Given the description of an element on the screen output the (x, y) to click on. 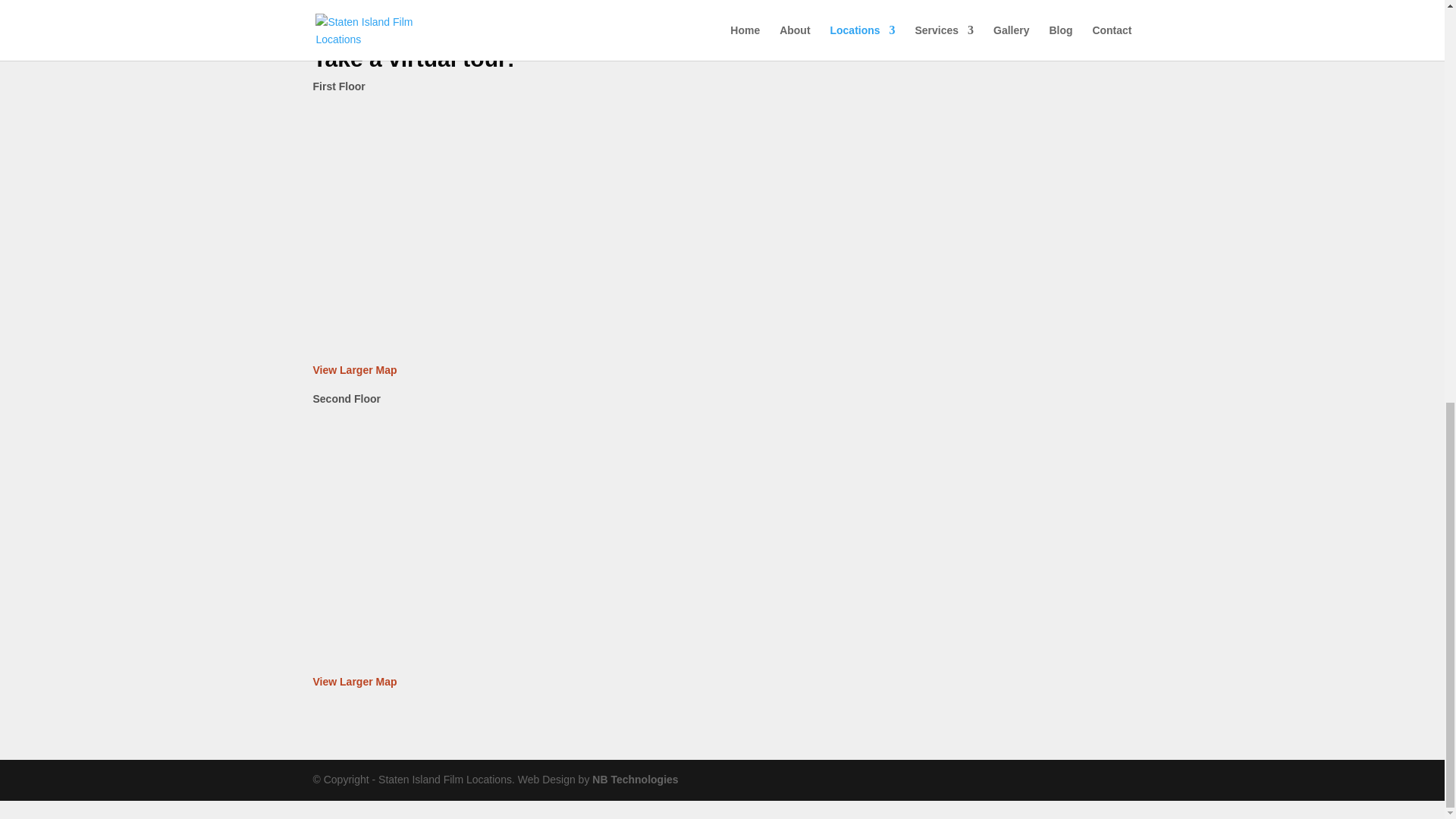
NB Technologies (635, 779)
View Larger Map (354, 369)
View Larger Map (354, 681)
